Given the description of an element on the screen output the (x, y) to click on. 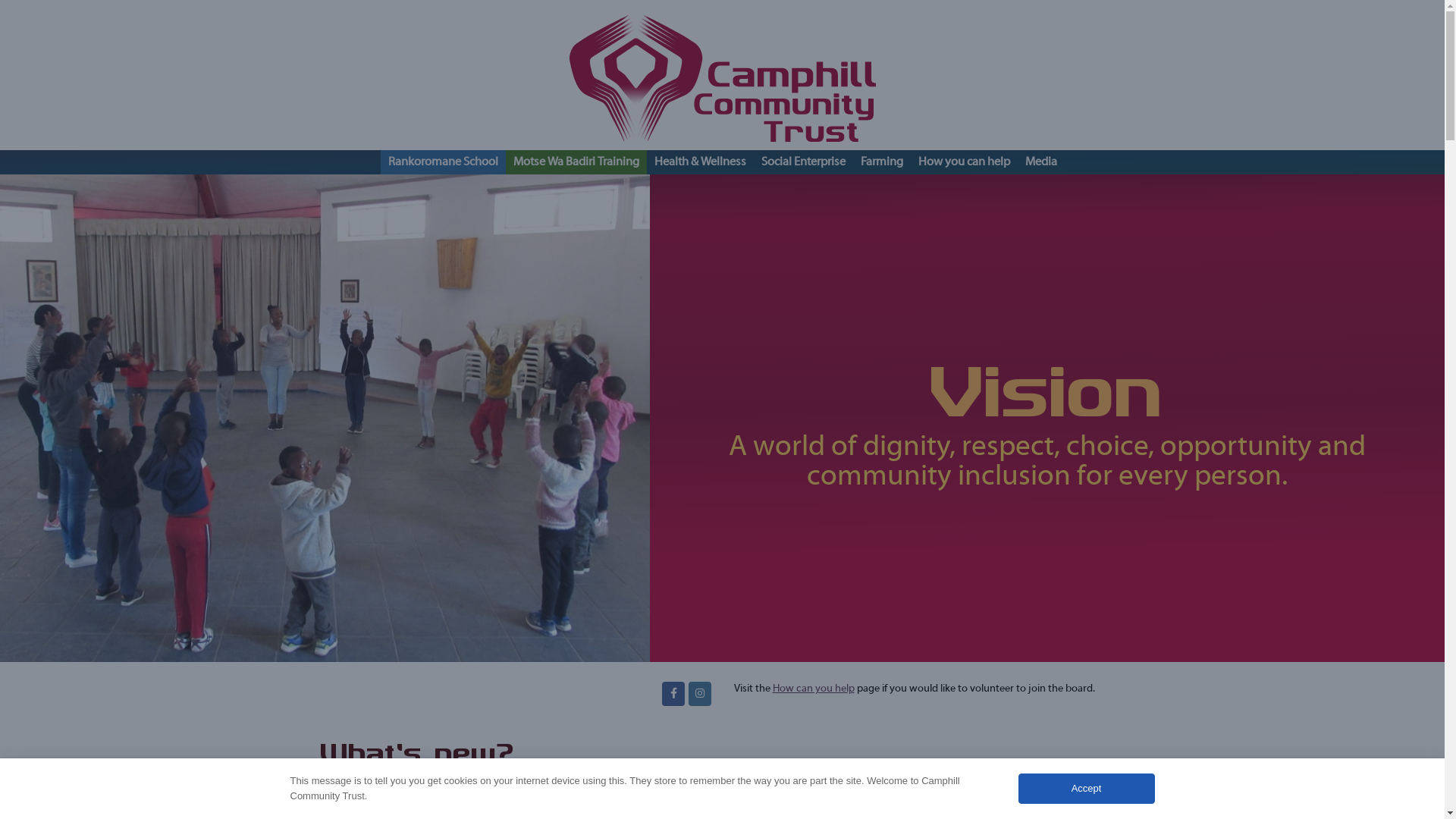
Camphill Community Trust on Instagram Element type: hover (699, 693)
Rankoromane School Element type: text (442, 162)
Motse Wa Badiri Training Element type: text (575, 162)
Camphill Community Trust Element type: hover (673, 693)
Social Enterprise Element type: text (803, 162)
Media Element type: text (1040, 162)
Camphill Community Trust Element type: hover (722, 75)
How can you help Element type: text (812, 688)
Health & Wellness Element type: text (699, 162)
How you can help Element type: text (963, 162)
Farming Element type: text (881, 162)
Exciting eurythmy class with the learners Element type: hover (324, 418)
